Given the description of an element on the screen output the (x, y) to click on. 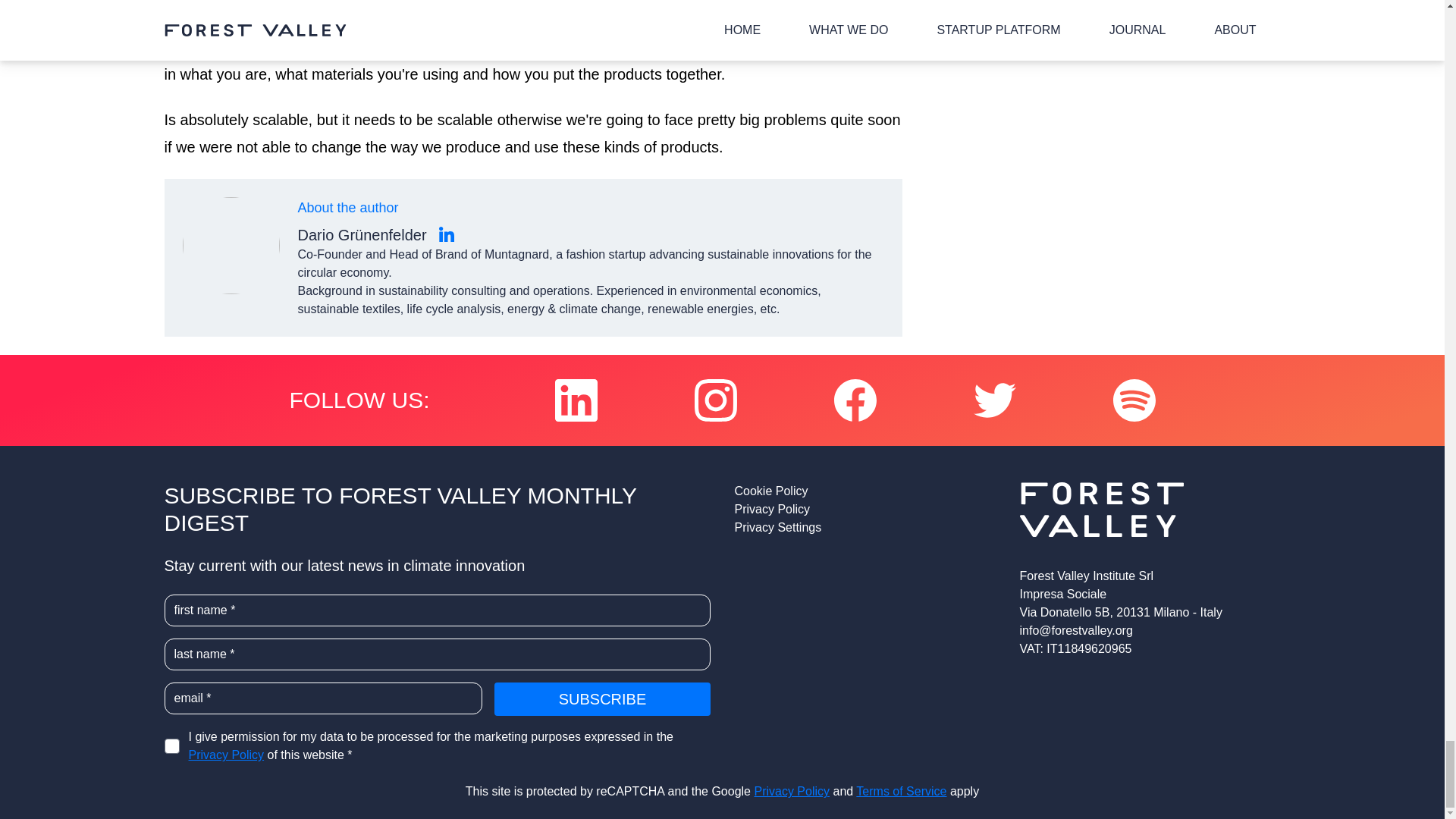
Privacy Policy (225, 754)
SUBSCRIBE (602, 698)
Cookie Policy (863, 491)
on (171, 745)
Privacy Policy (791, 790)
Terms of Service (901, 790)
Privacy Policy (863, 509)
Privacy Settings (863, 527)
